Given the description of an element on the screen output the (x, y) to click on. 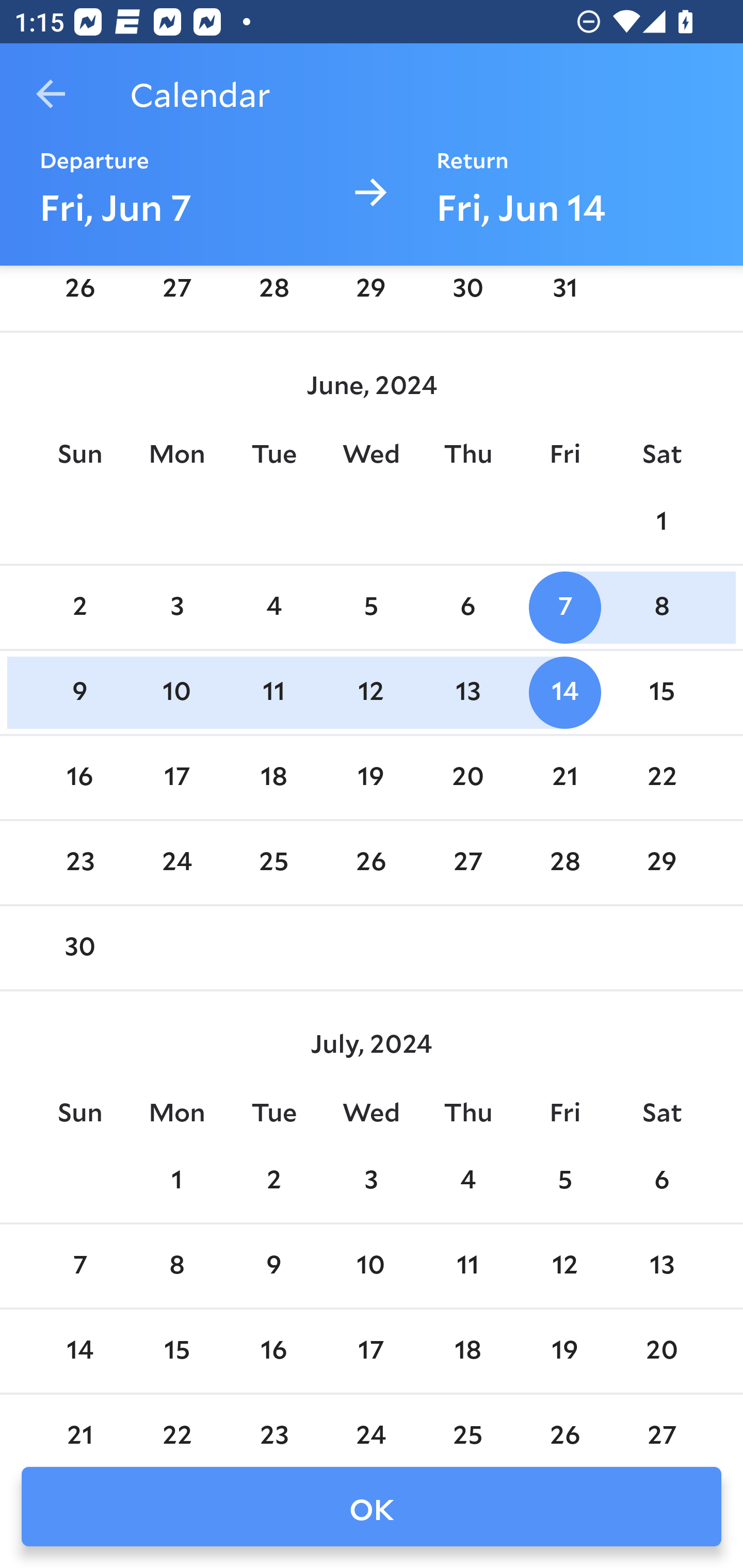
Navigate up (50, 93)
26 (79, 295)
27 (177, 295)
28 (273, 295)
29 (371, 295)
30 (467, 295)
31 (565, 295)
1 (661, 522)
2 (79, 607)
3 (177, 607)
4 (273, 607)
5 (371, 607)
6 (467, 607)
7 (565, 607)
8 (661, 607)
9 (79, 692)
10 (177, 692)
11 (273, 692)
12 (371, 692)
13 (467, 692)
14 (565, 692)
15 (661, 692)
16 (79, 777)
17 (177, 777)
18 (273, 777)
19 (371, 777)
20 (467, 777)
21 (565, 777)
22 (661, 777)
23 (79, 862)
24 (177, 862)
25 (273, 862)
26 (371, 862)
27 (467, 862)
28 (565, 862)
29 (661, 862)
30 (79, 948)
1 (177, 1180)
2 (273, 1180)
3 (371, 1180)
4 (467, 1180)
5 (565, 1180)
6 (661, 1180)
7 (79, 1266)
8 (177, 1266)
9 (273, 1266)
10 (371, 1266)
11 (467, 1266)
12 (565, 1266)
13 (661, 1266)
14 (79, 1351)
15 (177, 1351)
16 (273, 1351)
17 (371, 1351)
18 (467, 1351)
19 (565, 1351)
20 (661, 1351)
21 (79, 1422)
22 (177, 1422)
23 (273, 1422)
24 (371, 1422)
25 (467, 1422)
26 (565, 1422)
27 (661, 1422)
OK (371, 1506)
